Given the description of an element on the screen output the (x, y) to click on. 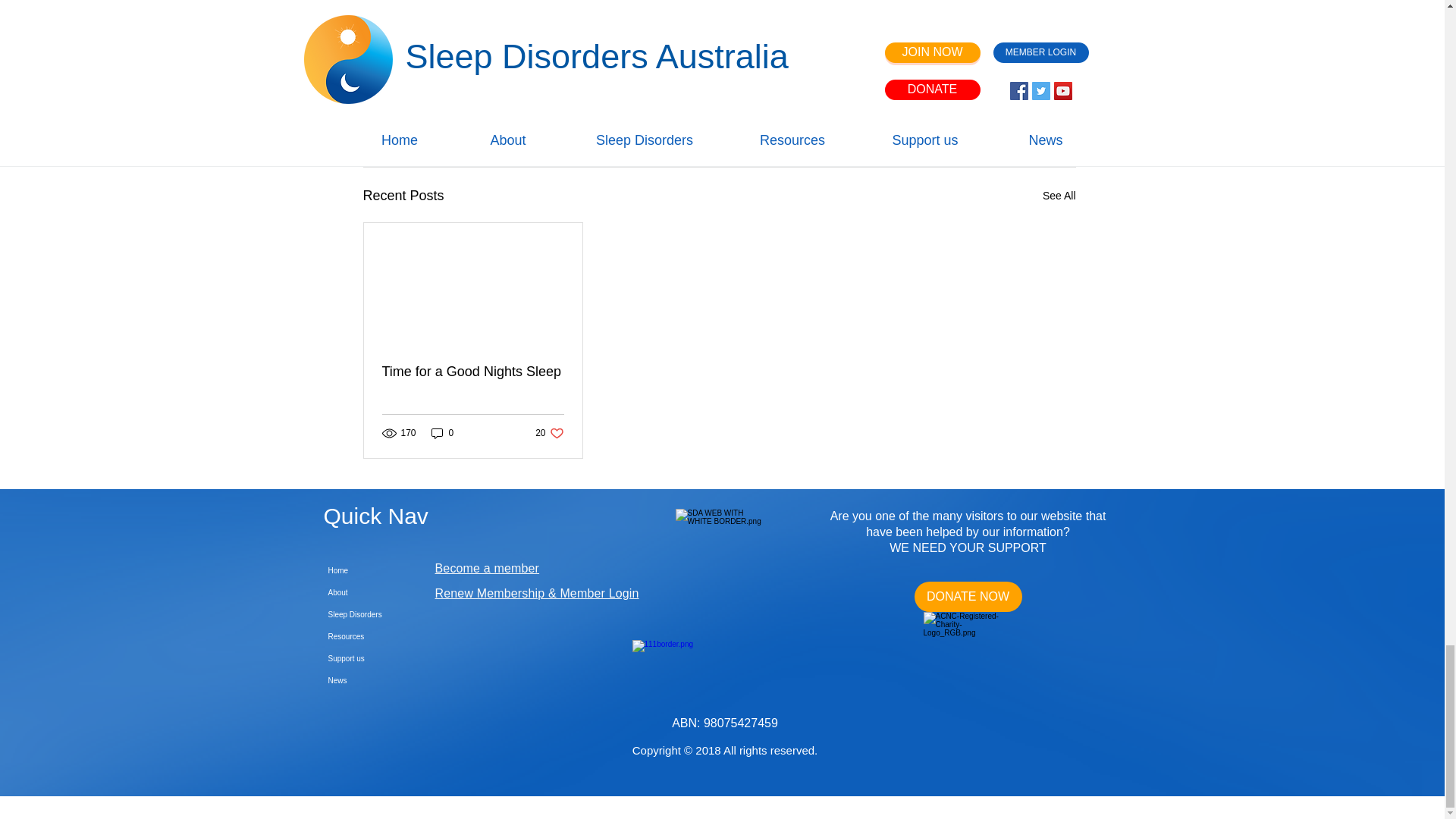
Sleep Health Inquiry (890, 67)
Government Policy (781, 67)
See All (984, 113)
Advocacy (1058, 196)
